Given the description of an element on the screen output the (x, y) to click on. 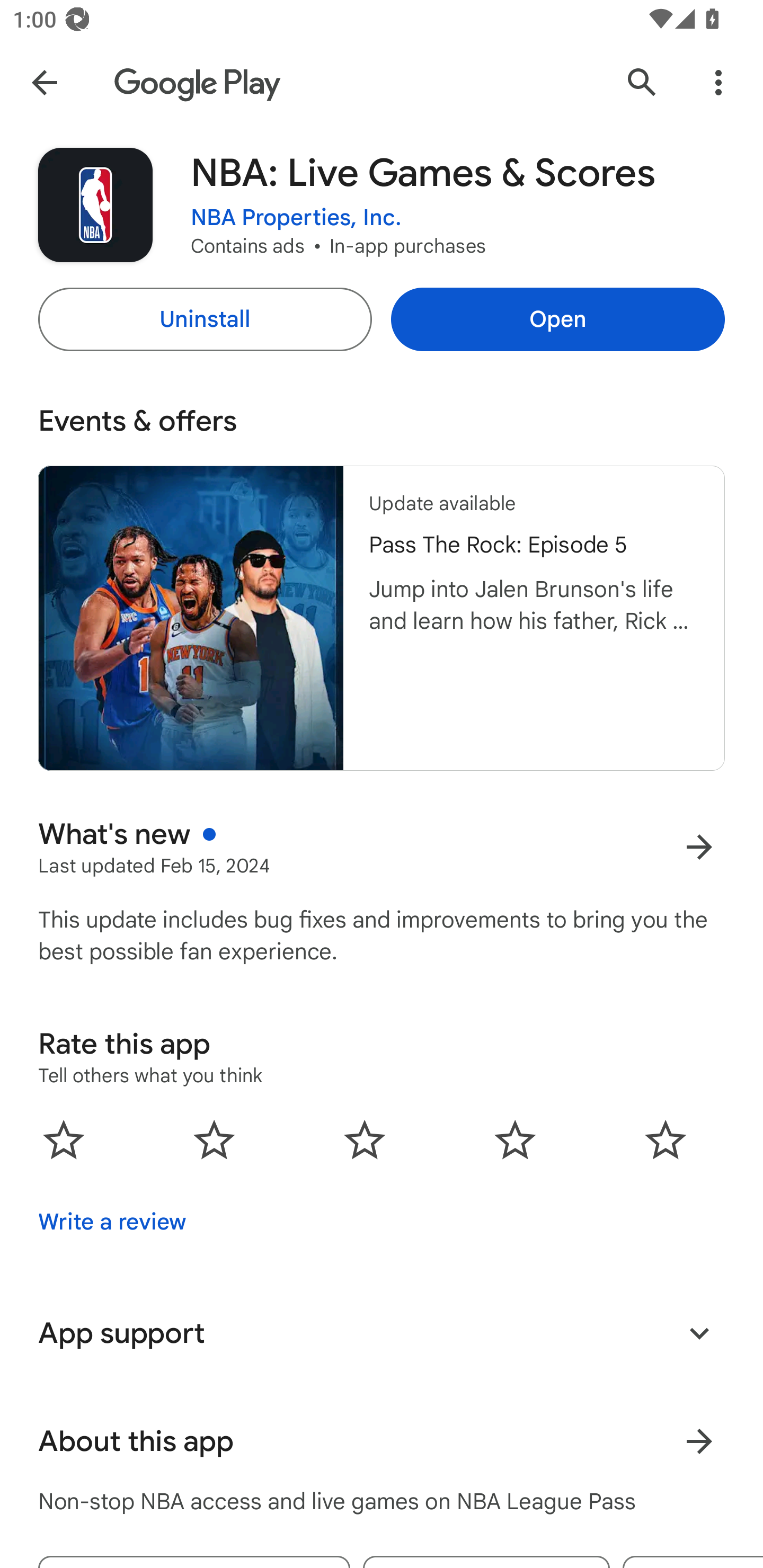
Navigate up (44, 81)
Search Google Play (642, 81)
More Options (718, 81)
NBA Properties, Inc. (295, 217)
Uninstall (205, 318)
Open (557, 318)
More results for What's new (699, 847)
0.0 (364, 1138)
Write a review (112, 1221)
App support Expand (381, 1333)
Expand (699, 1333)
About this app Learn more About this app (381, 1441)
Learn more About this app (699, 1441)
